Given the description of an element on the screen output the (x, y) to click on. 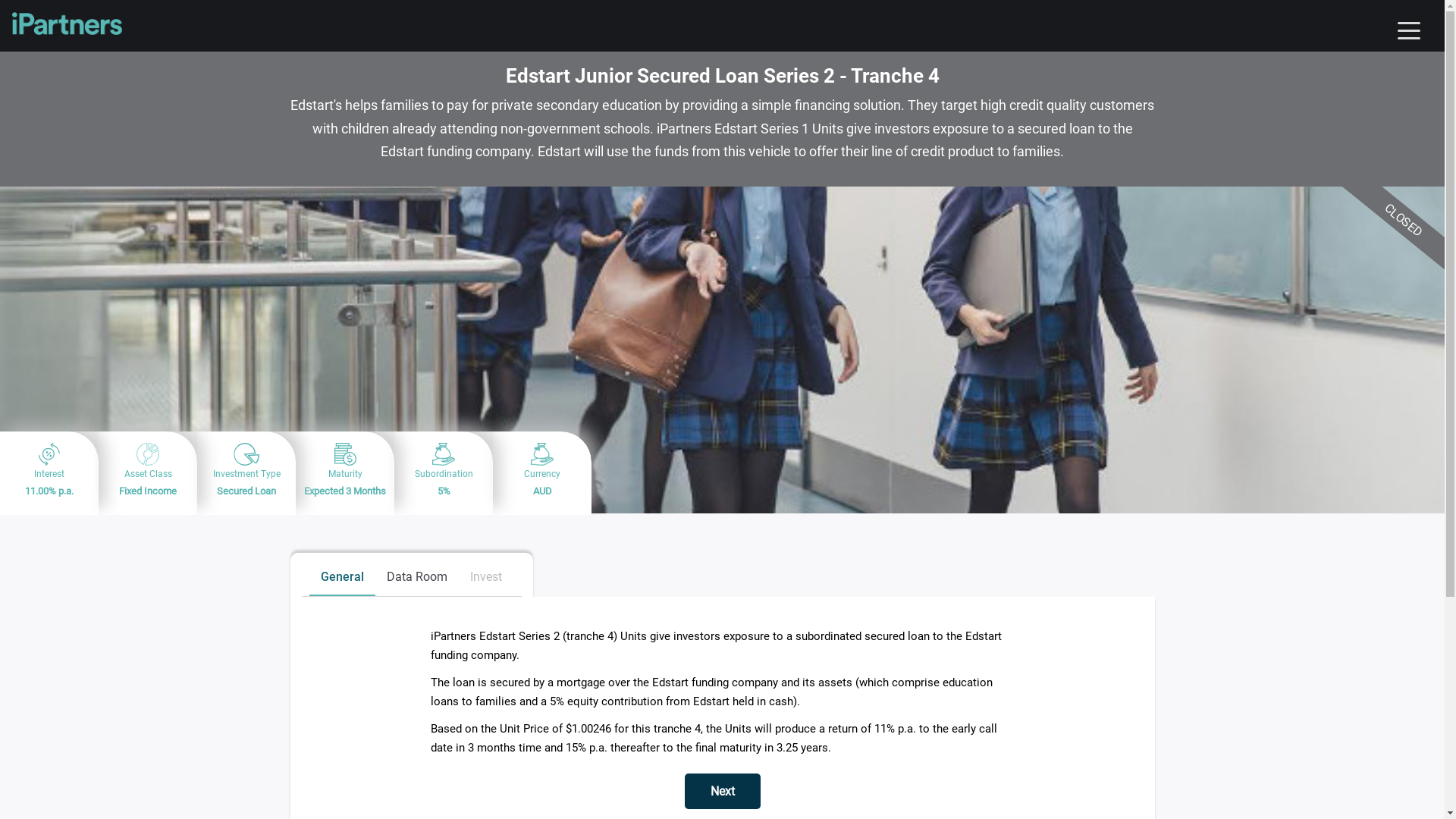
Data Room Element type: text (416, 577)
Invest Element type: text (485, 577)
General Element type: text (342, 577)
Next Element type: text (721, 791)
